Given the description of an element on the screen output the (x, y) to click on. 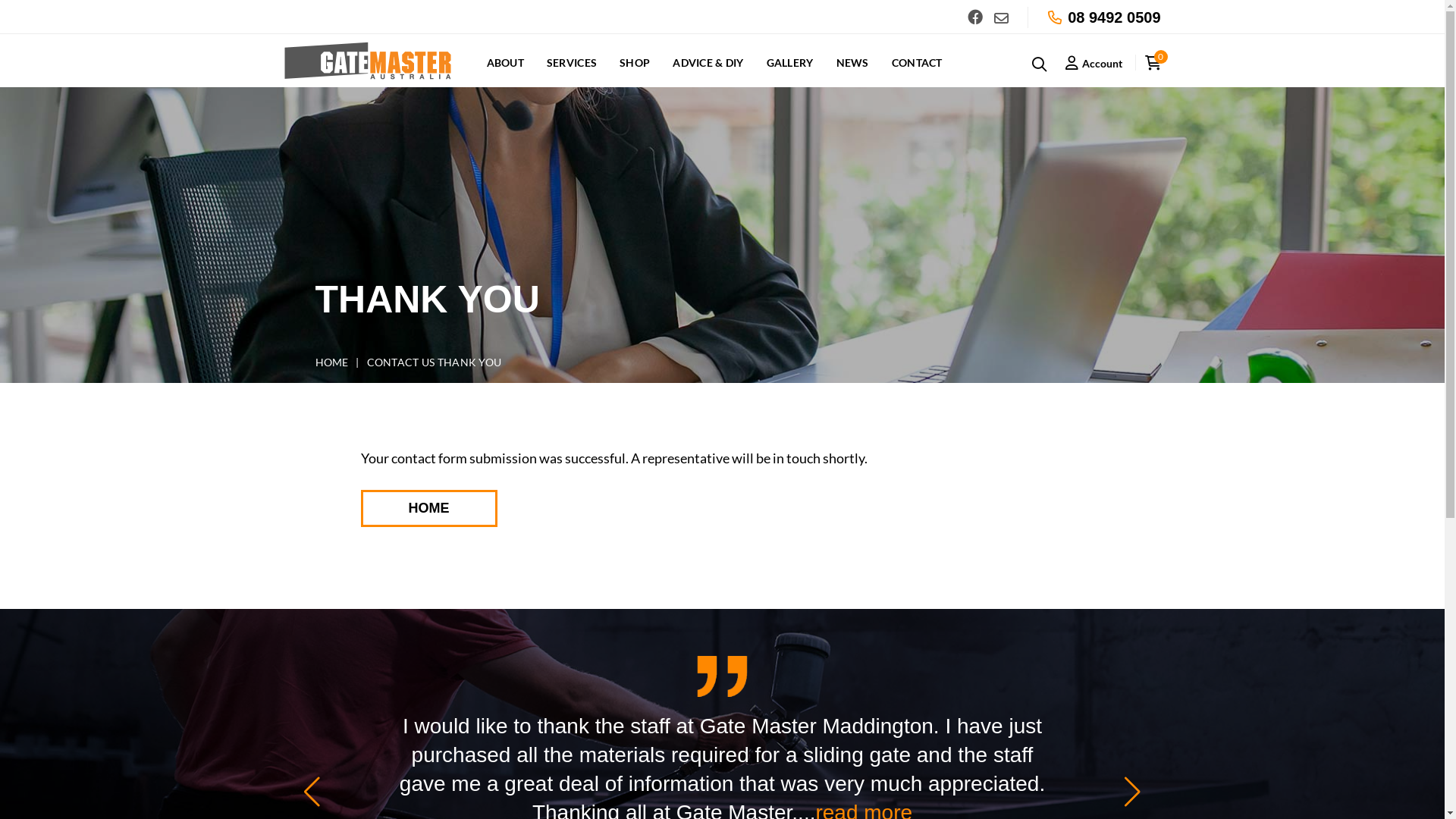
Account Element type: text (1092, 62)
ADVICE & DIY Element type: text (707, 71)
CONTACT Element type: text (916, 71)
SHOP Element type: text (634, 71)
08 9492 0509 Element type: text (1113, 17)
GALLERY Element type: text (789, 71)
SERVICES Element type: text (571, 71)
HOME Element type: text (331, 361)
ABOUT Element type: text (505, 71)
NEWS Element type: text (852, 71)
HOME Element type: text (428, 508)
